Given the description of an element on the screen output the (x, y) to click on. 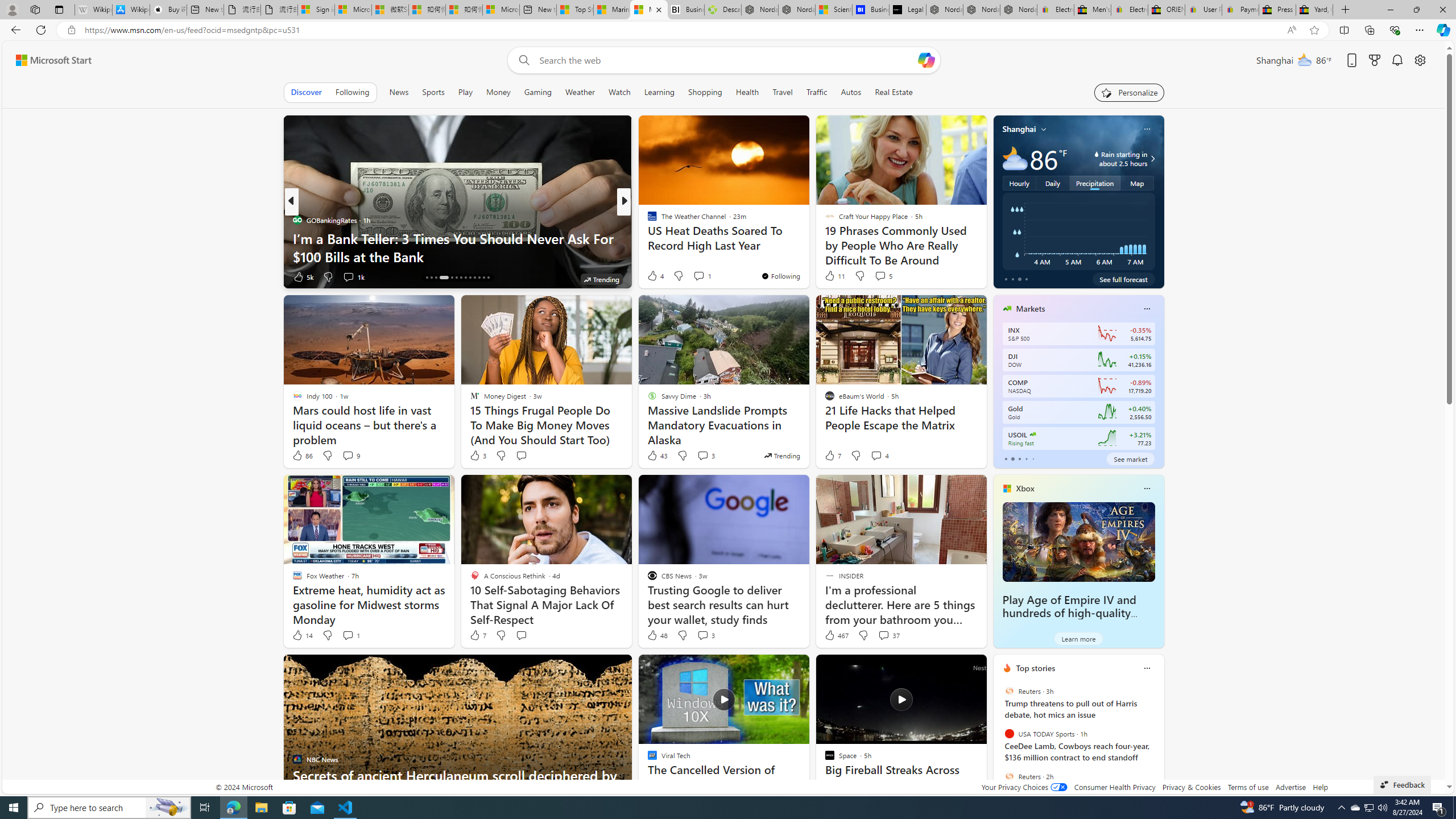
Precipitation (1094, 183)
View comments 4 Comment (876, 455)
Top Stories - MSN (574, 9)
previous (998, 741)
